Given the description of an element on the screen output the (x, y) to click on. 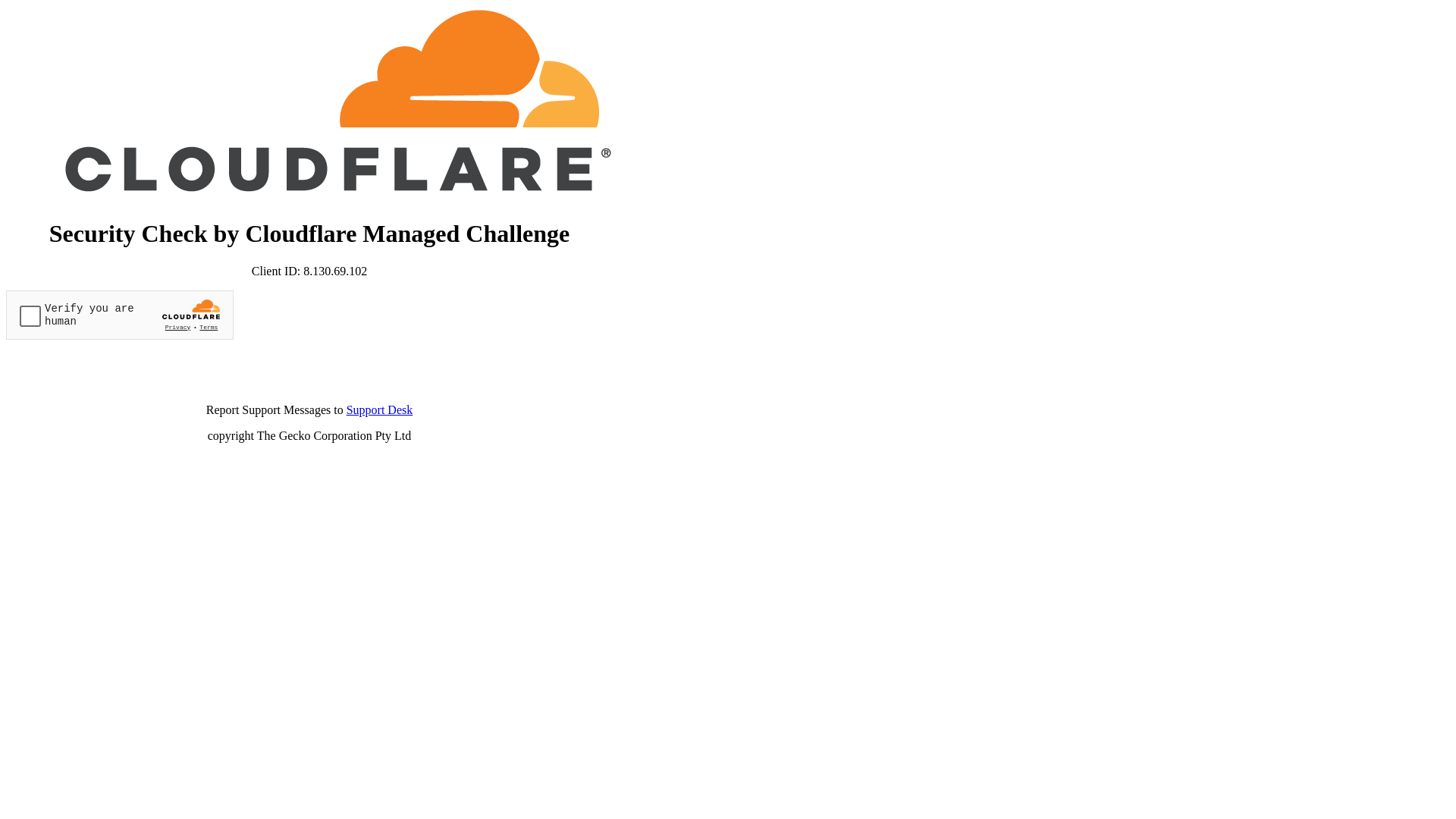
Support Desk Element type: text (379, 409)
Widget containing a Cloudflare security challenge Element type: hover (119, 314)
